Given the description of an element on the screen output the (x, y) to click on. 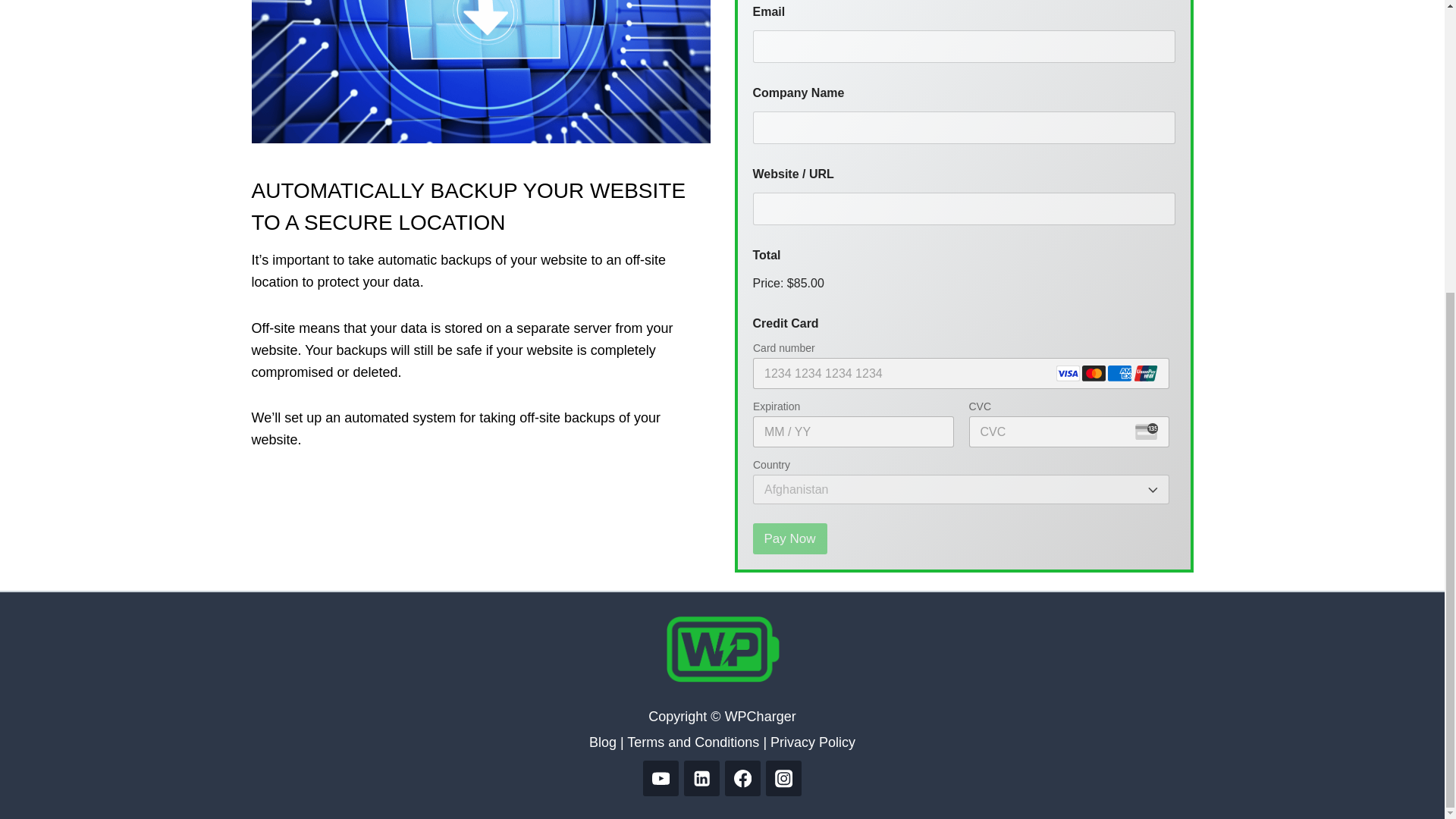
Secure payment input frame (960, 422)
Pay Now (789, 538)
Privacy Policy (813, 742)
Blog (602, 742)
Terms and Conditions (692, 742)
